Given the description of an element on the screen output the (x, y) to click on. 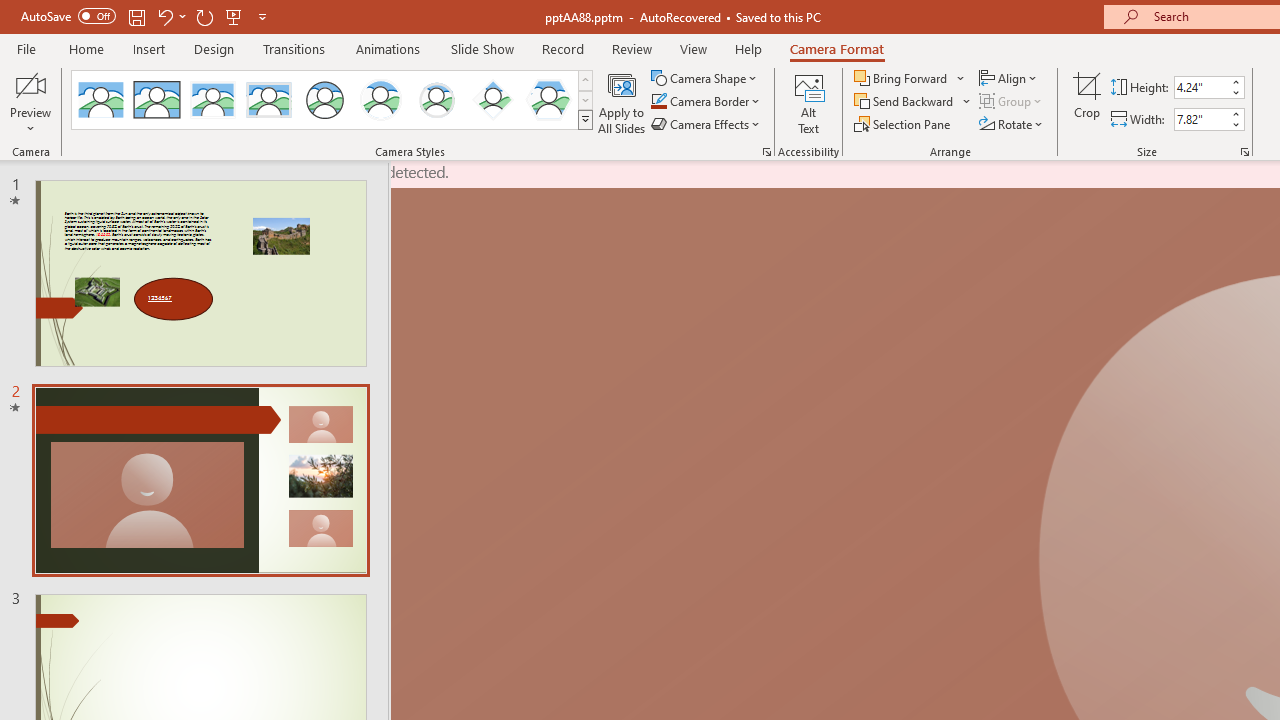
Align (1009, 78)
